Given the description of an element on the screen output the (x, y) to click on. 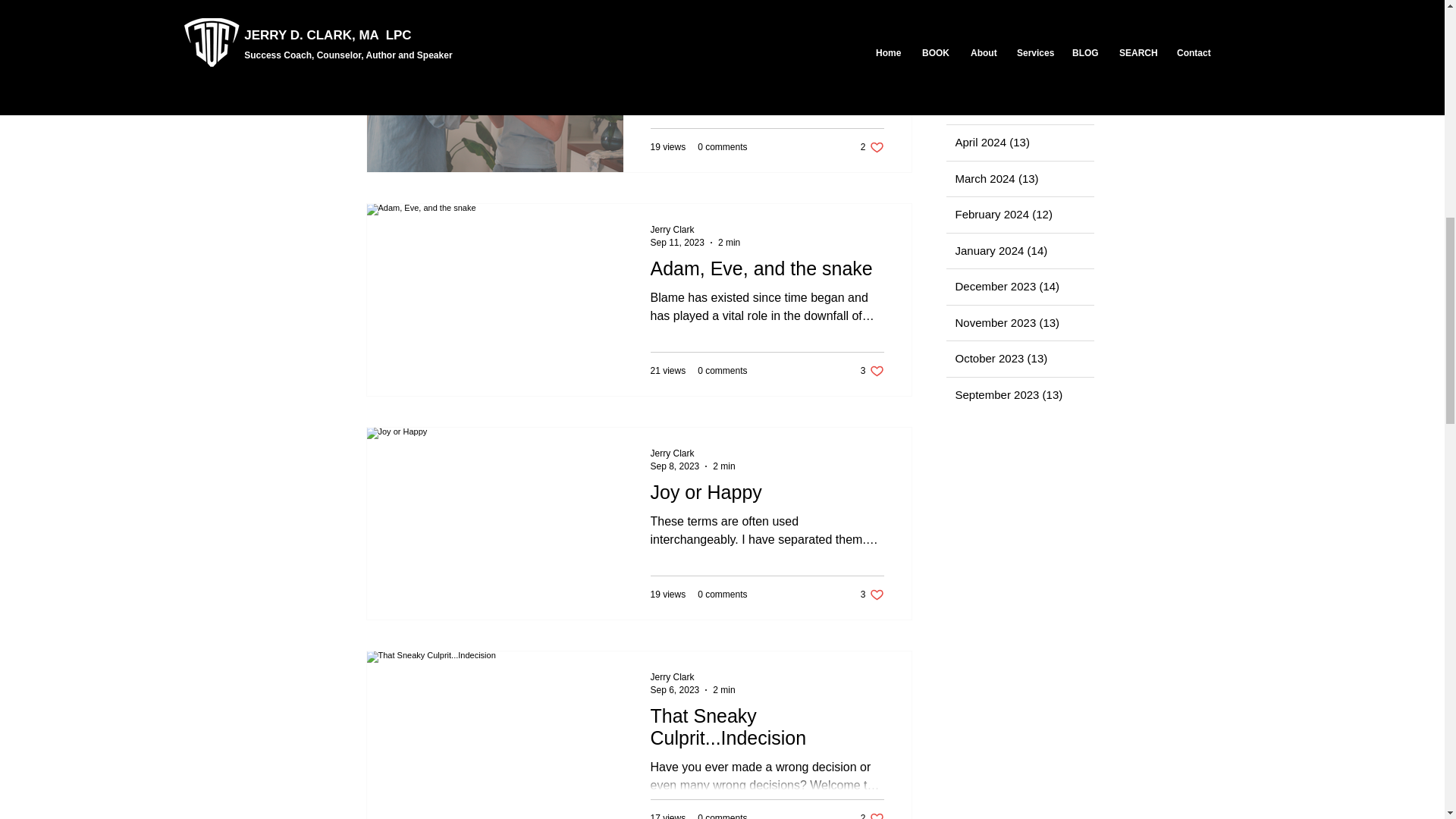
Sep 8, 2023 (675, 466)
Jerry Clark (692, 677)
Joy or Happy (766, 496)
Sep 6, 2023 (675, 688)
2 min (724, 688)
0 comments (721, 146)
2 min (728, 241)
Jerry Clark (672, 452)
Sep 13, 2023 (871, 146)
Jerry Clark (677, 18)
Jerry Clark (672, 229)
0 comments (692, 452)
2 min (721, 816)
